Given the description of an element on the screen output the (x, y) to click on. 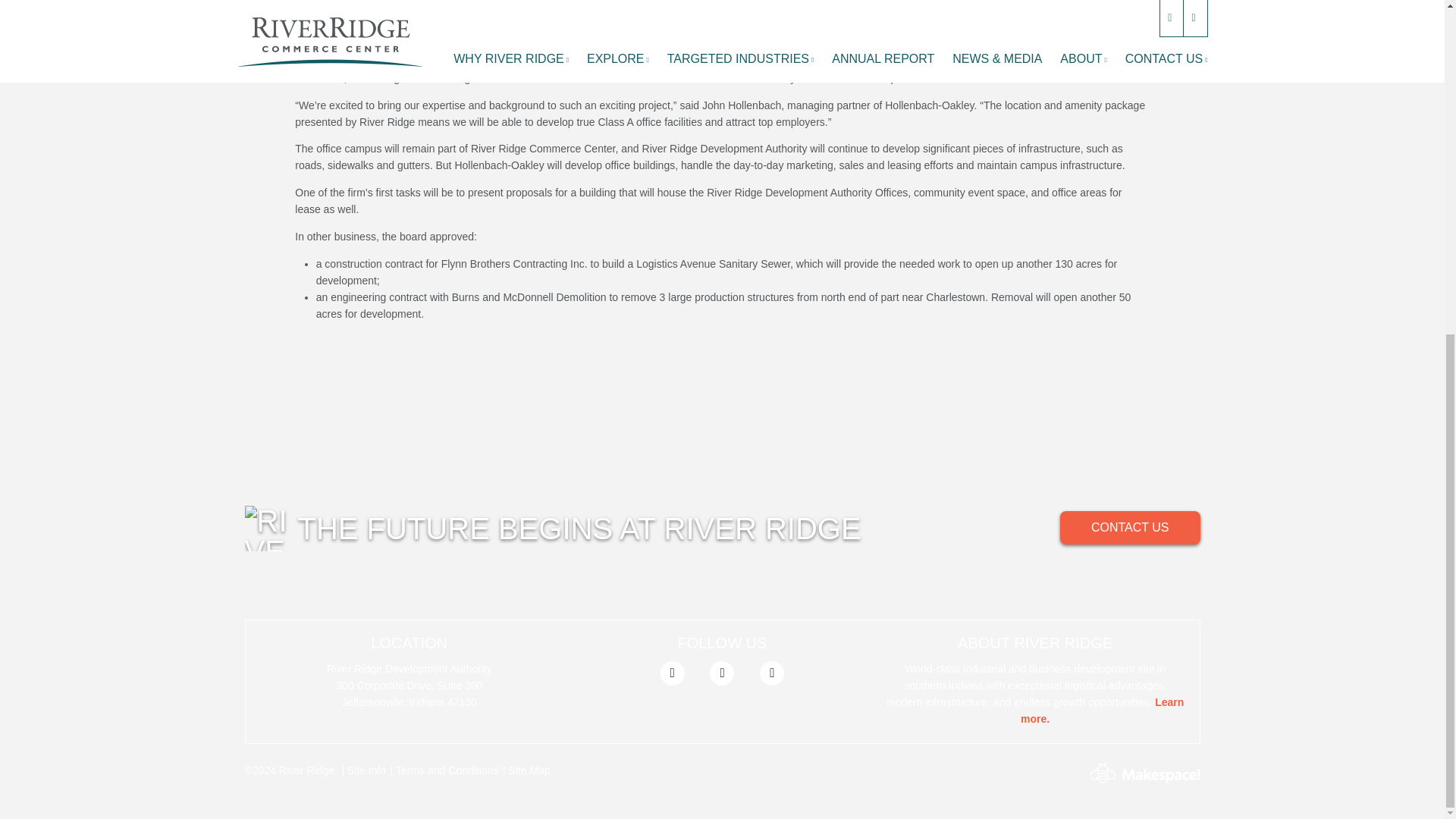
Louisville Web Design (1160, 775)
Site Info (366, 770)
Site Map (529, 770)
Privacy Policy (446, 770)
Louisville Web Design (1102, 772)
